Given the description of an element on the screen output the (x, y) to click on. 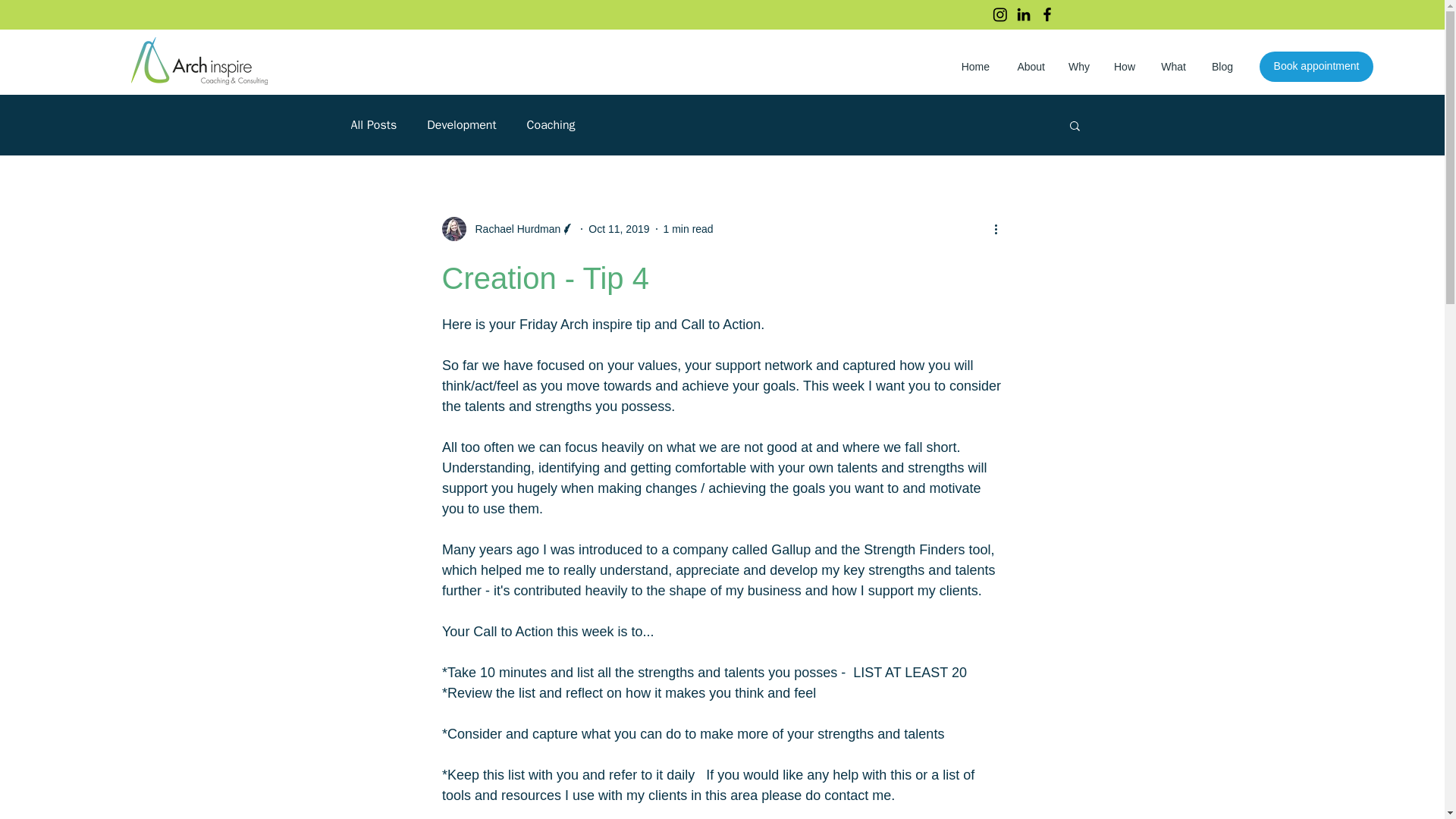
Development (461, 124)
How (1123, 66)
Rachael Hurdman (512, 229)
All Posts (373, 124)
About (1029, 66)
Book appointment (1316, 66)
Rachael Hurdman (508, 228)
Home (972, 66)
Oct 11, 2019 (618, 228)
Coaching (551, 124)
Blog (1220, 66)
Why (1078, 66)
1 min read (688, 228)
